Given the description of an element on the screen output the (x, y) to click on. 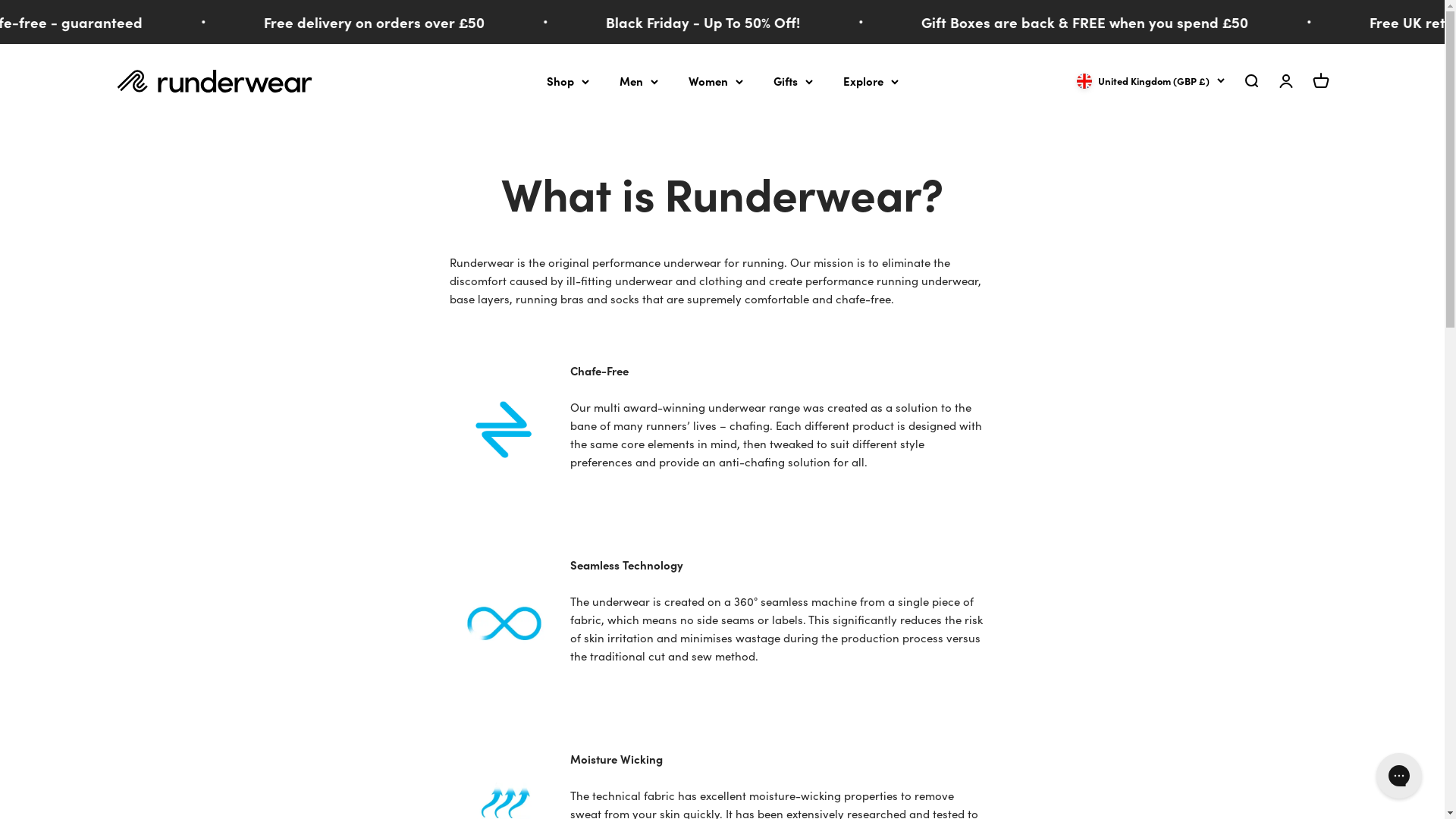
Free UK returns & exchanges Element type: text (466, 21)
Open search Element type: text (1250, 80)
Open account page Element type: text (1285, 80)
Gorgias live chat messenger Element type: hover (1398, 775)
100% chafe-free - guaranteed Element type: text (788, 21)
Open cart
0 Element type: text (1319, 80)
